Given the description of an element on the screen output the (x, y) to click on. 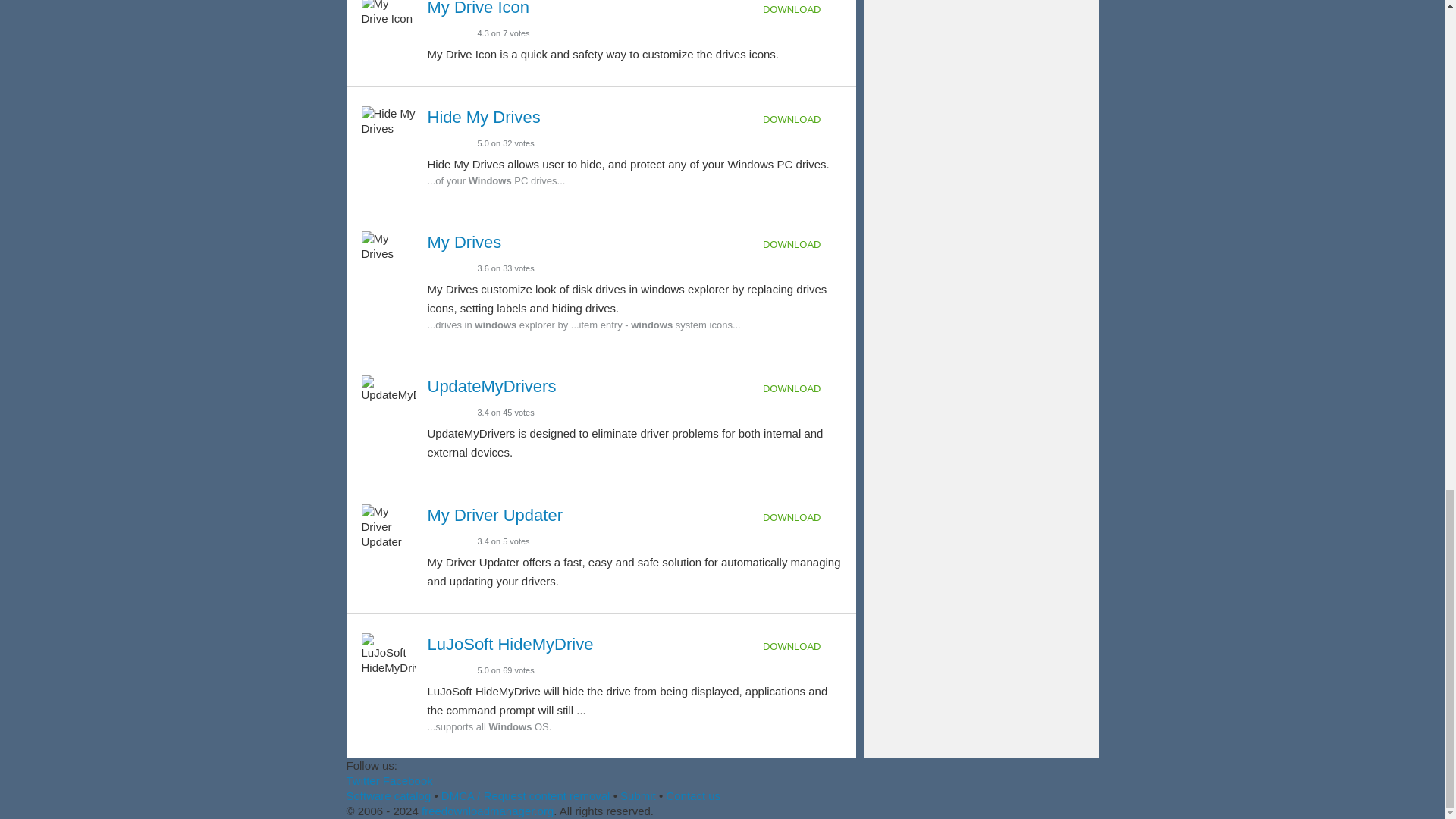
Hide My Drives (484, 116)
LuJoSoft HideMyDrive (511, 643)
My Drives (465, 241)
UpdateMyDrivers (492, 385)
My Driver Updater (495, 515)
My Drive Icon (478, 8)
